Given the description of an element on the screen output the (x, y) to click on. 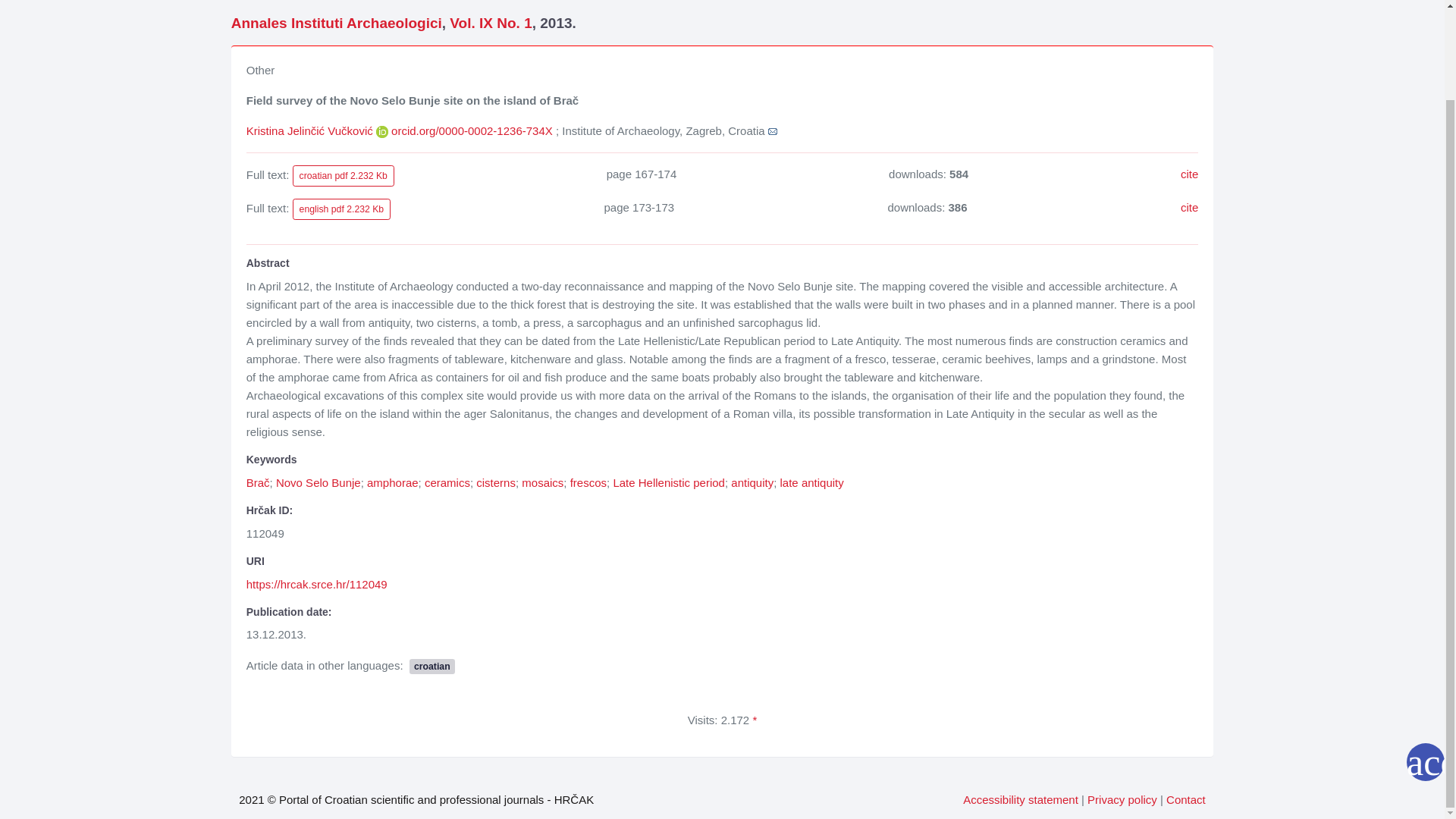
mail (772, 131)
croatian pdf 2.232 Kb (343, 175)
Annales Instituti Archaeologici (336, 23)
cite (1189, 173)
english pdf 2.232 Kb (341, 209)
Vol. IX No. 1 (490, 23)
